Given the description of an element on the screen output the (x, y) to click on. 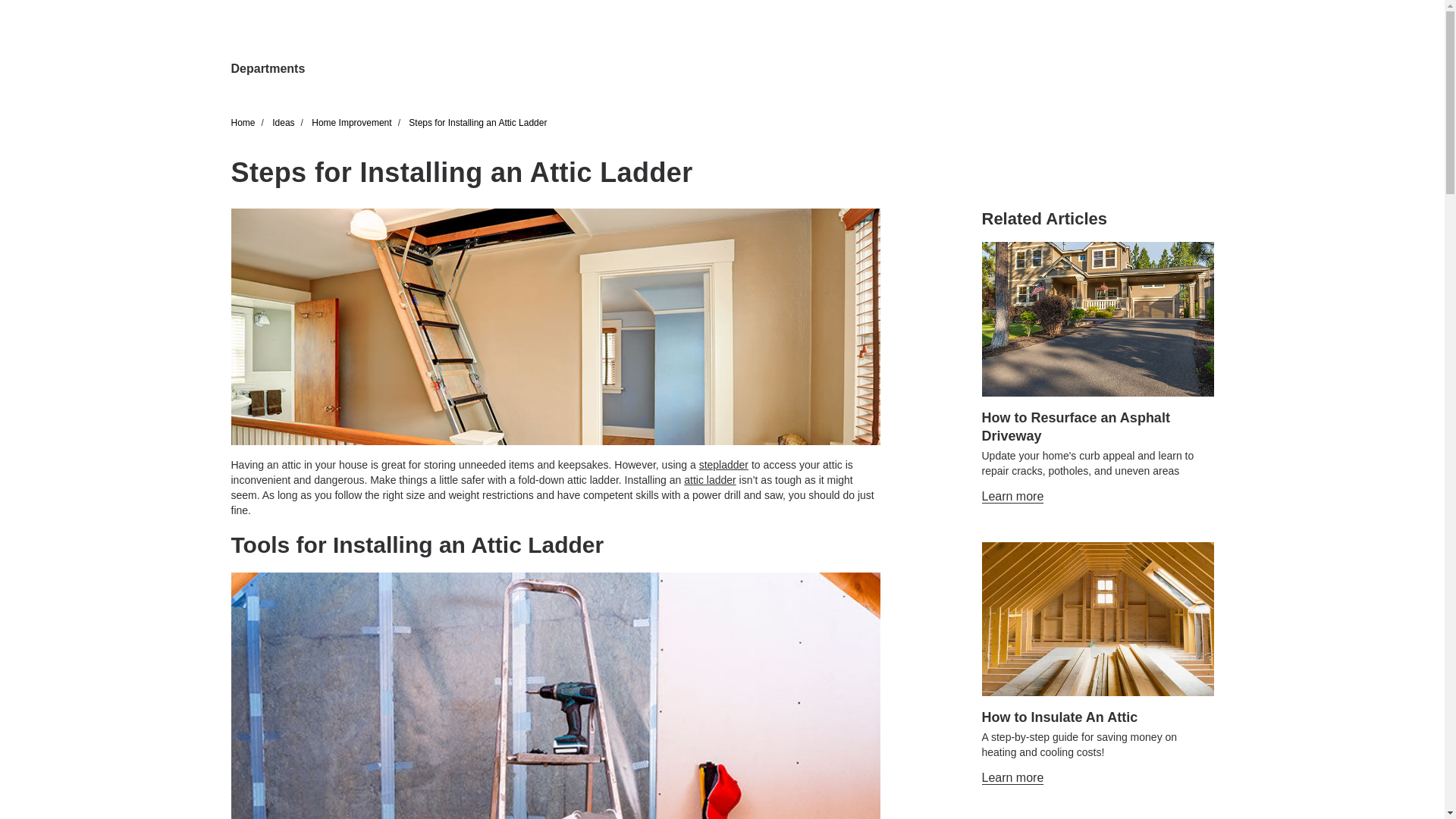
Home Improvement (351, 122)
Home (242, 122)
Learn more (1012, 496)
attic ladder (709, 480)
Departments (267, 69)
Ideas (283, 122)
stepladder (723, 464)
Learn more (1012, 777)
